Given the description of an element on the screen output the (x, y) to click on. 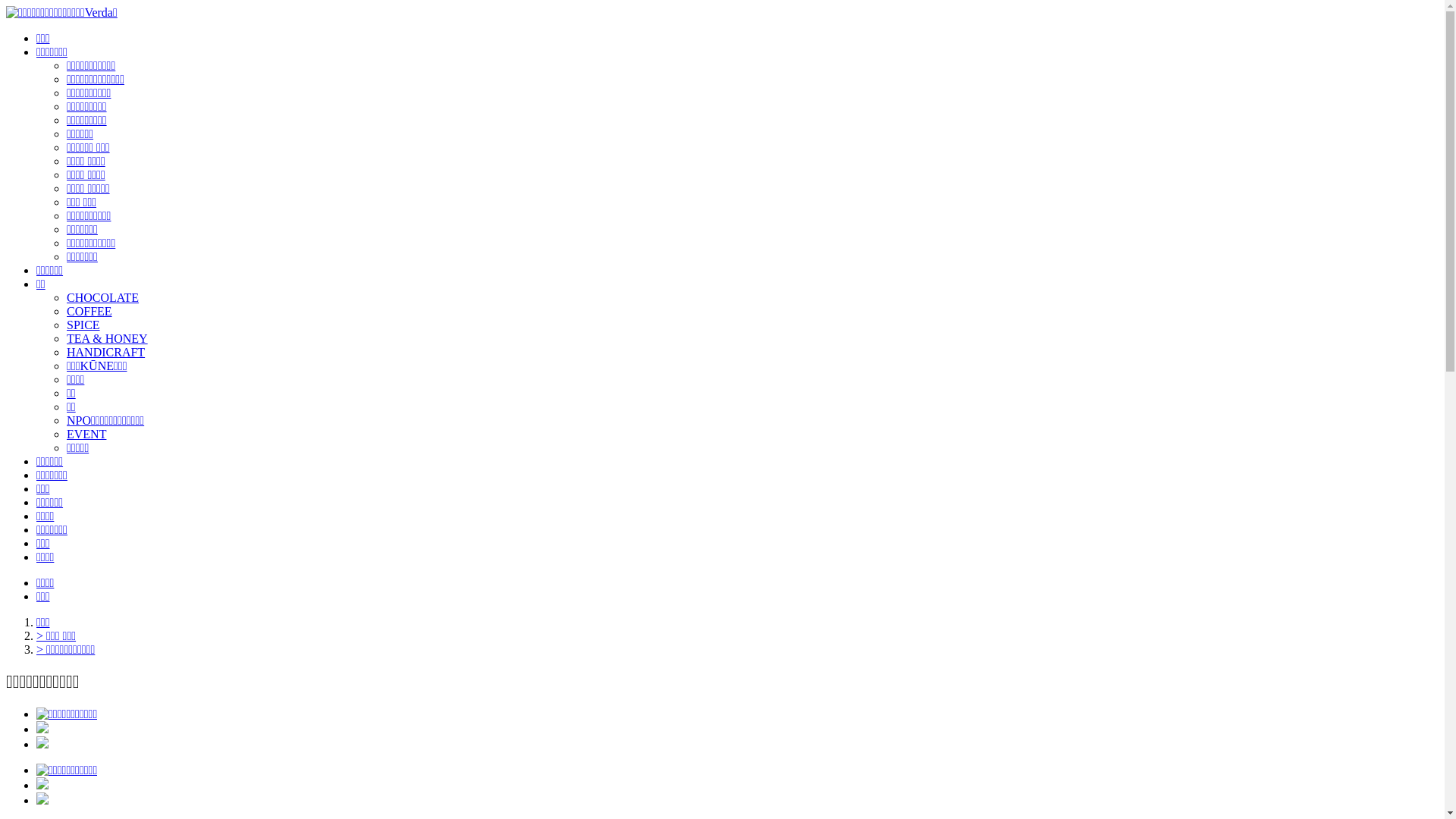
HANDICRAFT Element type: text (105, 351)
SPICE Element type: text (83, 324)
EVENT Element type: text (86, 433)
COFFEE Element type: text (89, 310)
CHOCOLATE Element type: text (102, 297)
TEA & HONEY Element type: text (106, 338)
